Given the description of an element on the screen output the (x, y) to click on. 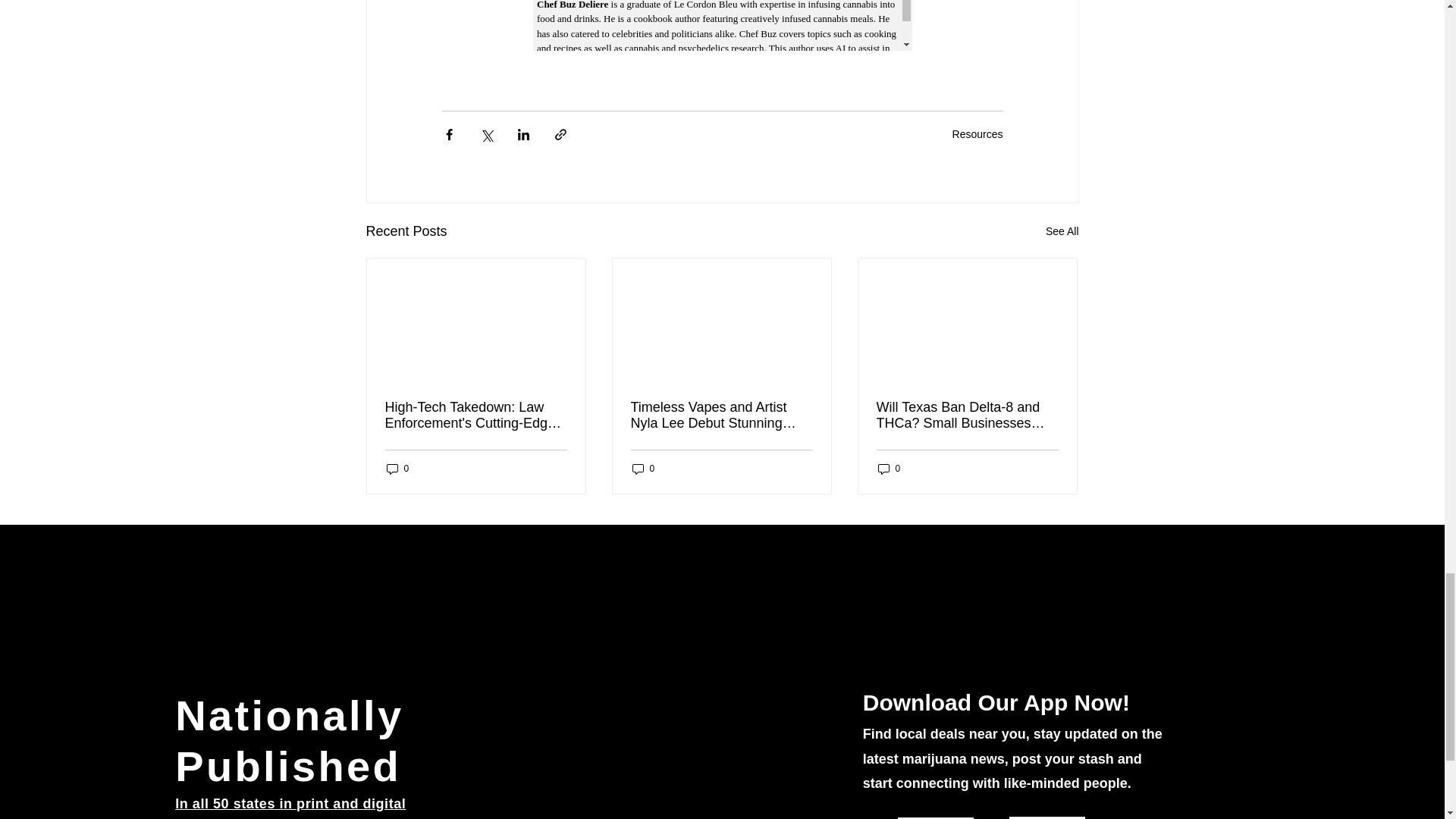
0 (889, 468)
remote content (721, 25)
Resources (977, 133)
See All (1061, 231)
0 (643, 468)
0 (397, 468)
